Given the description of an element on the screen output the (x, y) to click on. 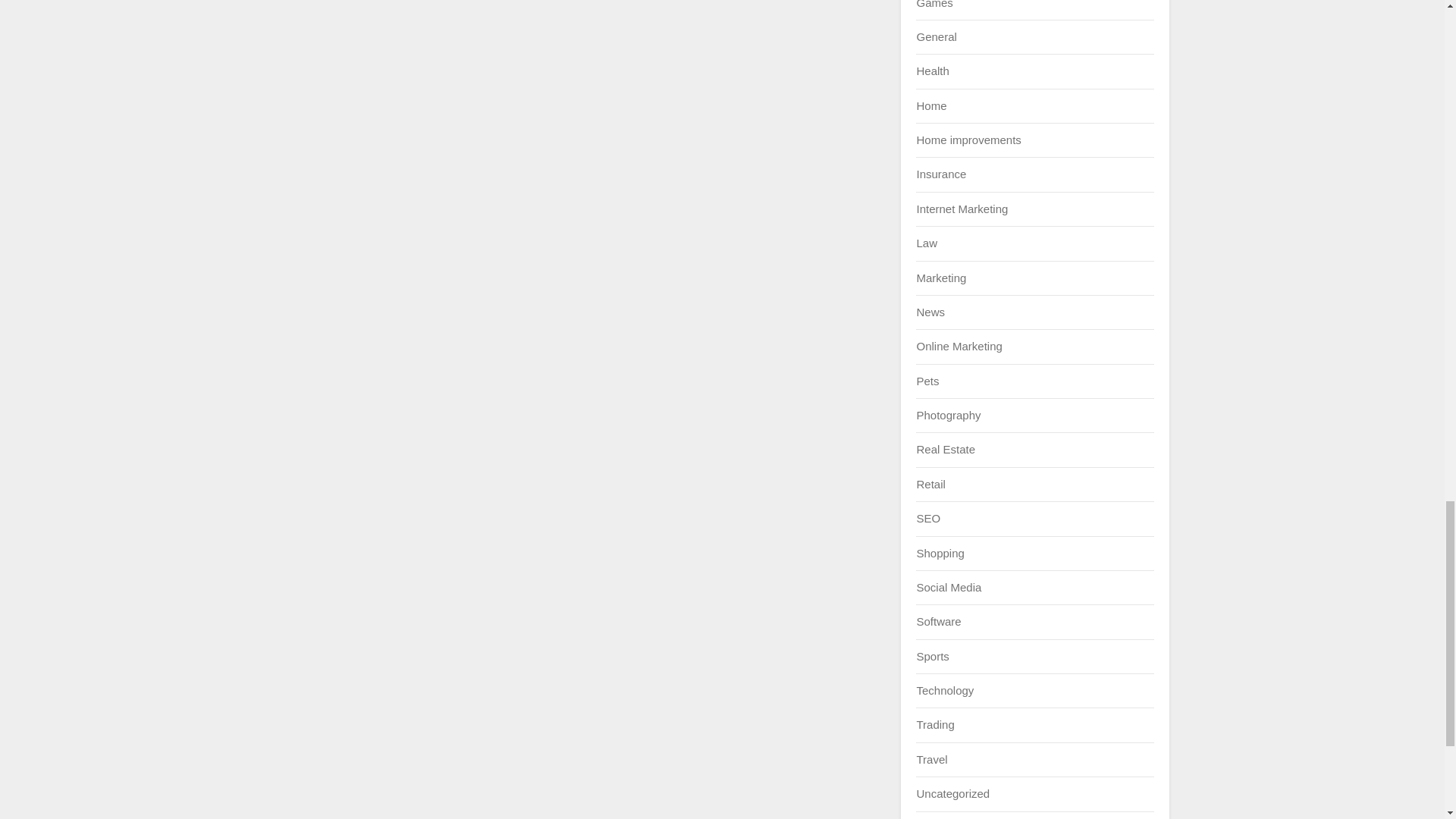
Health (932, 70)
General (935, 36)
Home improvements (967, 139)
Games (933, 4)
Home (930, 105)
Insurance (940, 173)
